Given the description of an element on the screen output the (x, y) to click on. 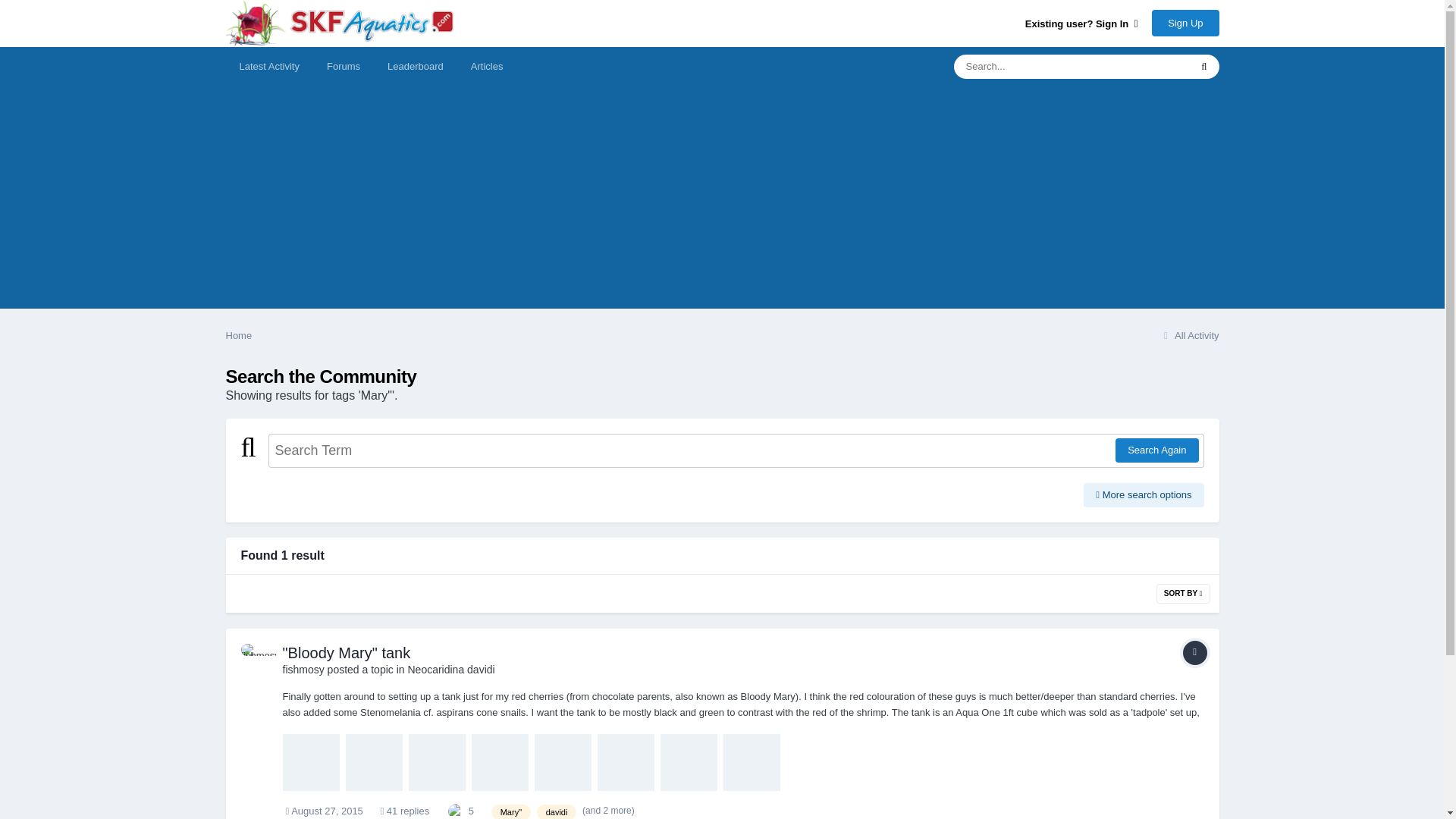
Latest Activity (269, 66)
Sign Up (1184, 22)
Existing user? Sign In   (1081, 23)
Search Again (1156, 450)
All Activity (1188, 335)
Topic (1194, 652)
Like (455, 810)
Home (238, 335)
Home (238, 335)
Articles (486, 66)
